Given the description of an element on the screen output the (x, y) to click on. 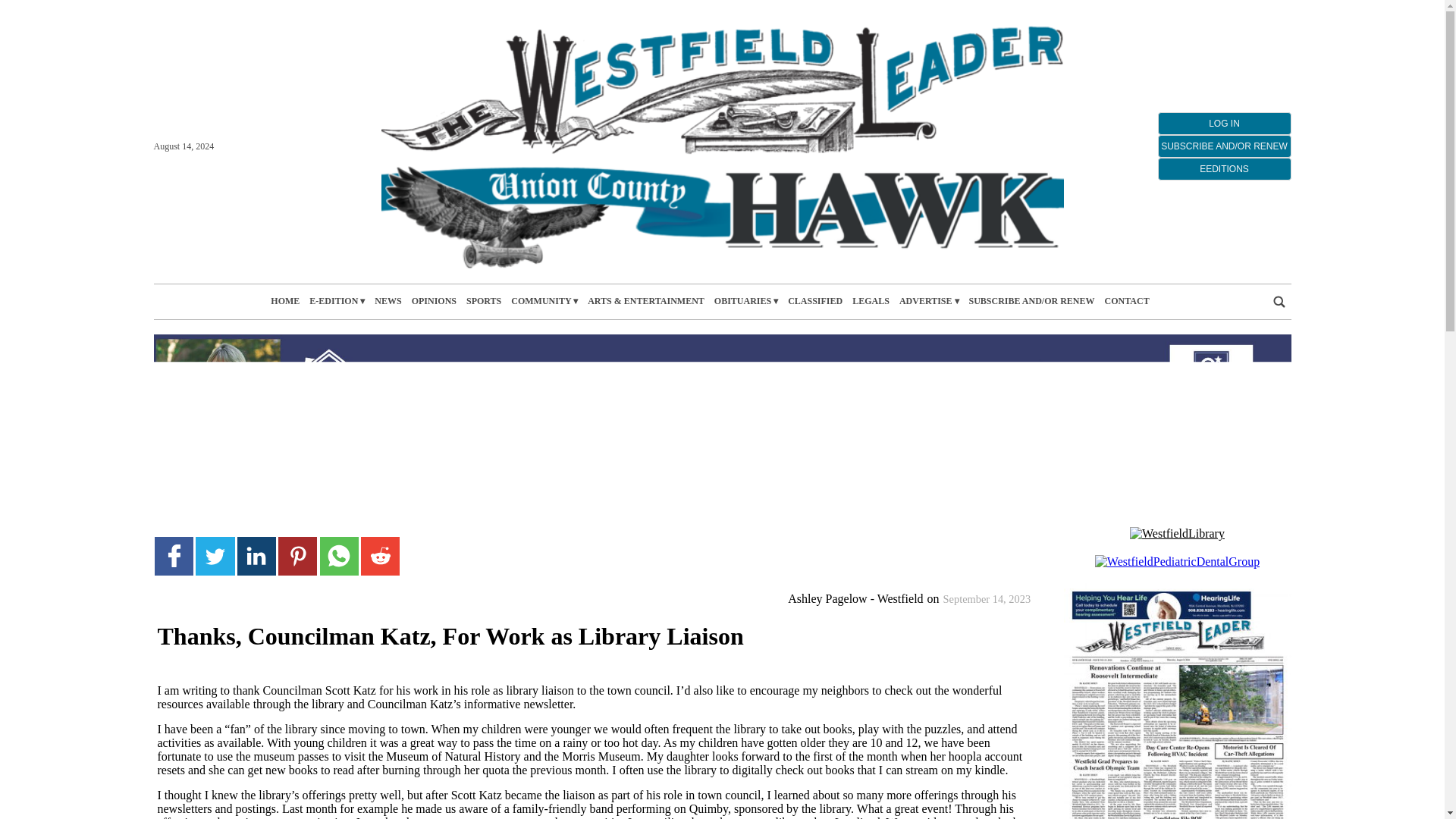
LOG IN (1223, 123)
HOME (285, 301)
ePaper (1176, 701)
EEDITIONS (1223, 169)
E-EDITION (336, 301)
NEWS (387, 301)
